Given the description of an element on the screen output the (x, y) to click on. 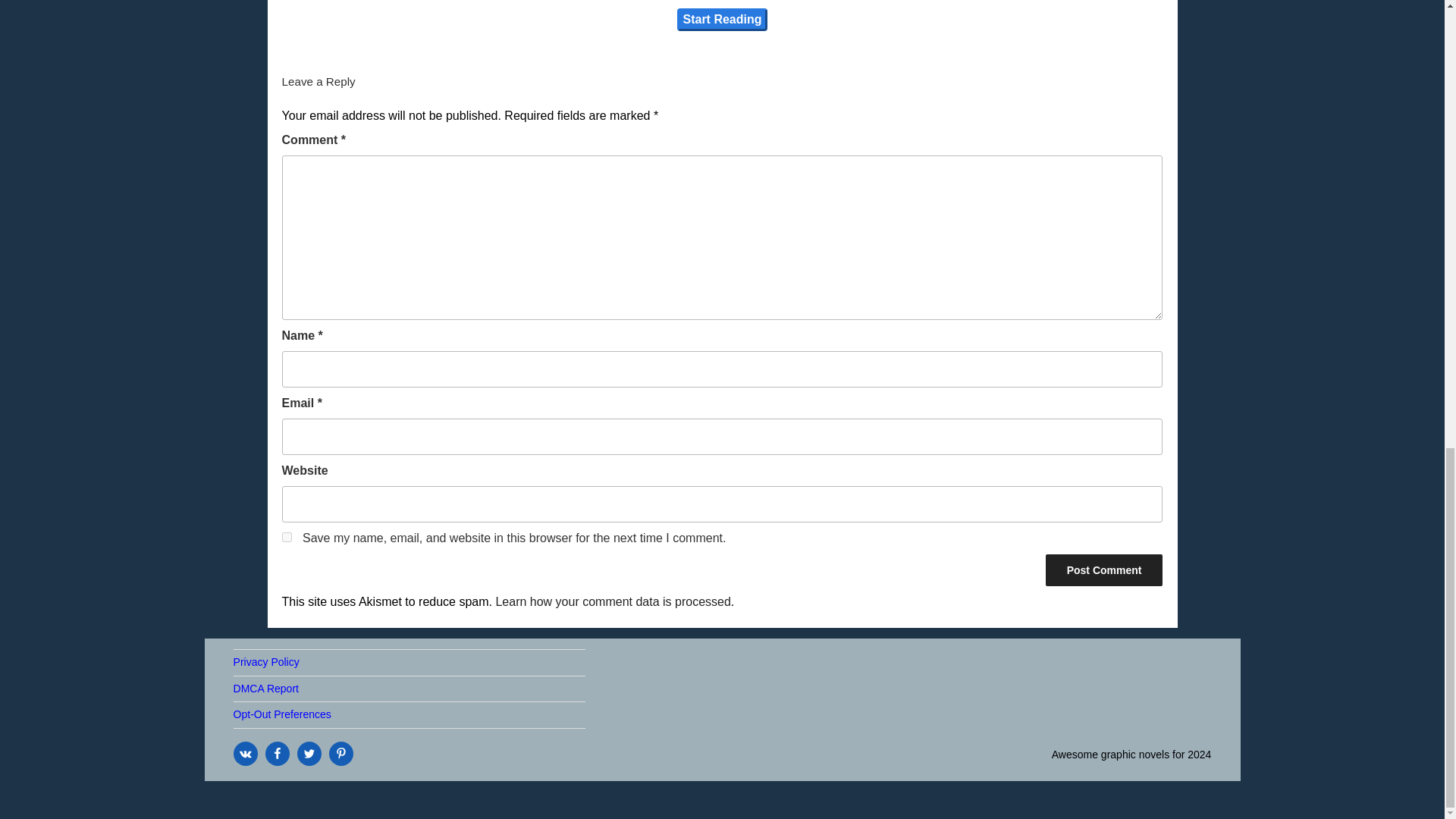
Start Reading (722, 19)
Post Comment (1104, 570)
Post Comment (1104, 570)
DMCA Report (265, 688)
Privacy Policy (265, 662)
Twitter (309, 753)
Facebook (276, 753)
Vk (244, 753)
yes (287, 537)
Opt-Out Preferences (281, 714)
